Given the description of an element on the screen output the (x, y) to click on. 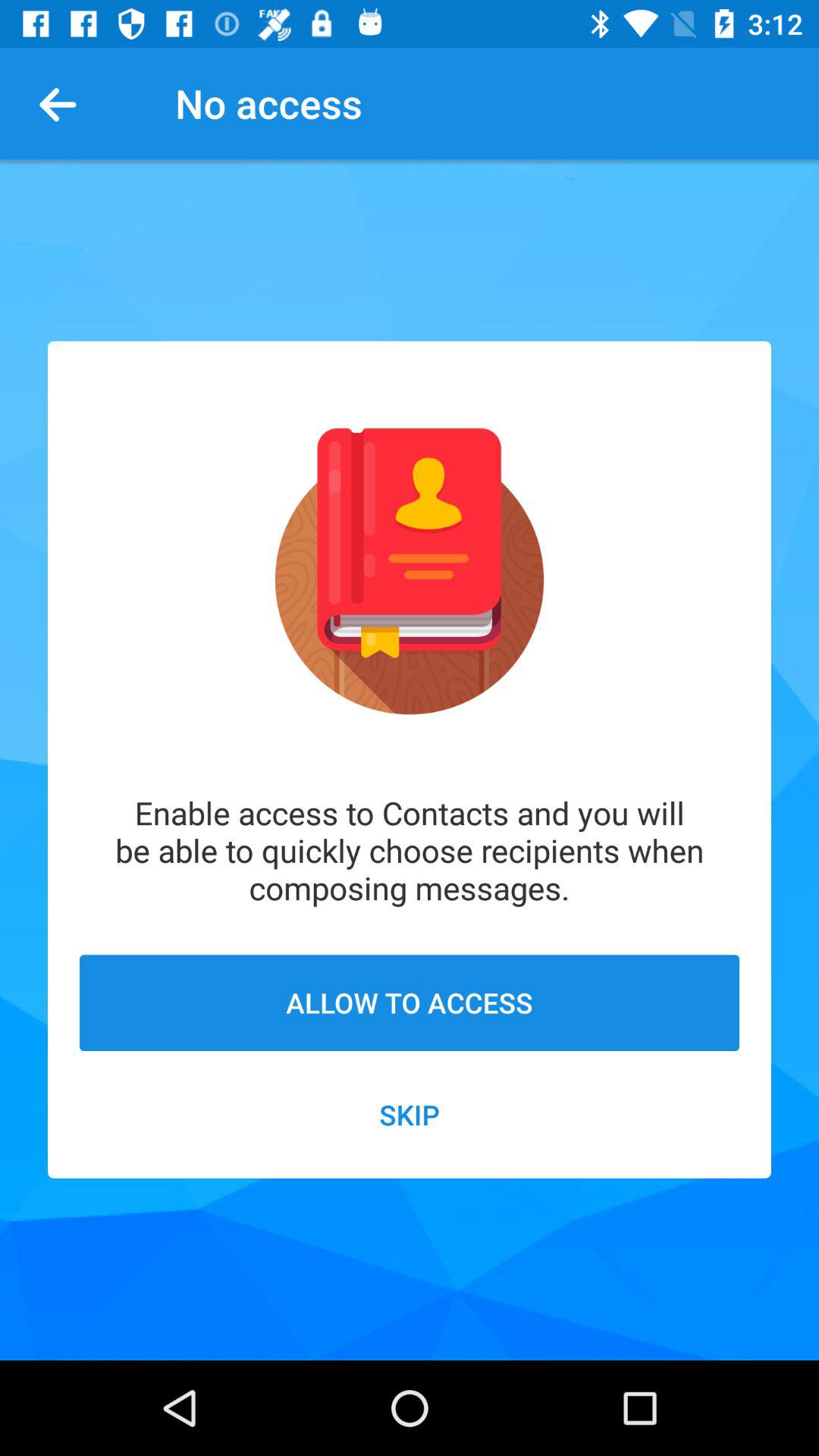
launch skip icon (409, 1114)
